Given the description of an element on the screen output the (x, y) to click on. 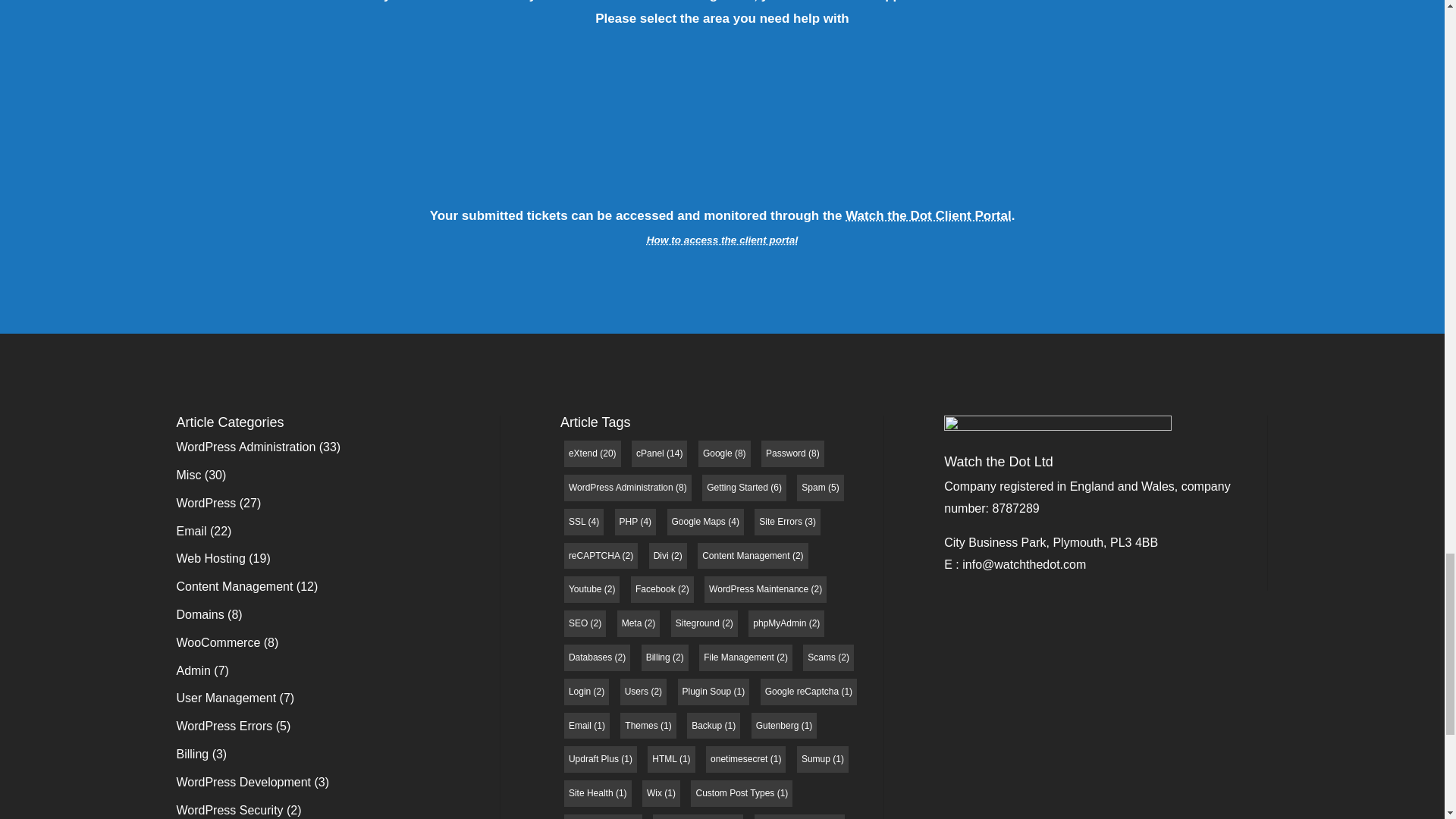
User Management (226, 697)
Misc (188, 474)
Content Management (234, 585)
Admin (192, 670)
WordPress Administration (245, 446)
Web Hosting (210, 558)
How to access the client portal (721, 239)
Domains (200, 614)
WordPress Errors (224, 725)
Email (191, 530)
WordPress (205, 502)
Watch the Dot Client Portal (928, 215)
WooCommerce (218, 642)
